Given the description of an element on the screen output the (x, y) to click on. 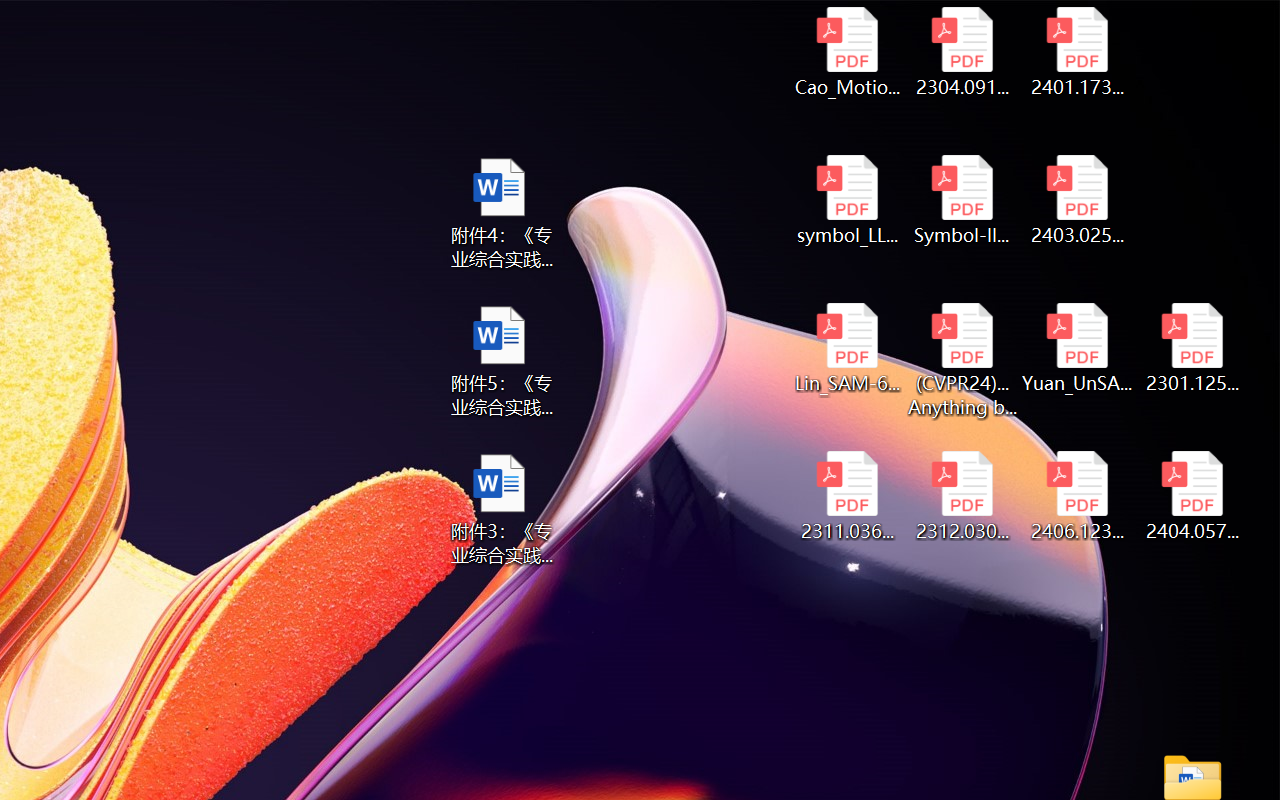
2401.17399v1.pdf (1077, 52)
2403.02502v1.pdf (1077, 200)
symbol_LLM.pdf (846, 200)
(CVPR24)Matching Anything by Segmenting Anything.pdf (962, 360)
2311.03658v2.pdf (846, 496)
2404.05719v1.pdf (1192, 496)
2304.09121v3.pdf (962, 52)
2312.03032v2.pdf (962, 496)
2406.12373v2.pdf (1077, 496)
2301.12597v3.pdf (1192, 348)
Symbol-llm-v2.pdf (962, 200)
